Given the description of an element on the screen output the (x, y) to click on. 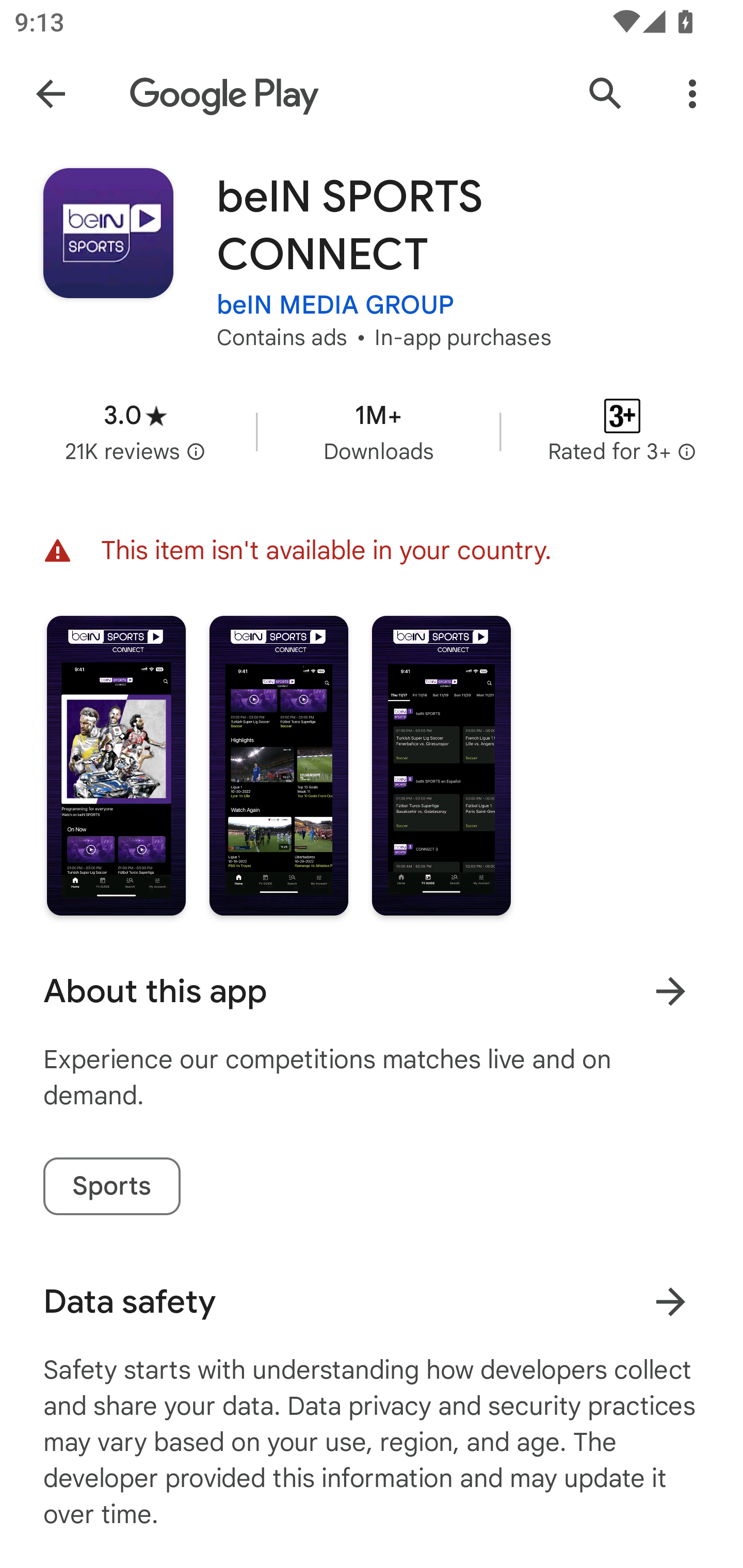
Navigate up (50, 93)
Search Google Play (605, 93)
More Options (692, 93)
beIN MEDIA GROUP (334, 304)
Average rating 3.0 stars in 21 thousand reviews (135, 431)
Content rating Rated for 3+ (622, 431)
Screenshot "1" of "3" (115, 765)
Screenshot "2" of "3" (278, 765)
Screenshot "3" of "3" (441, 765)
About this app Learn more About this app (371, 990)
Learn more About this app (670, 991)
Sports tag (111, 1186)
Data safety Learn more about data safety (371, 1301)
Learn more about data safety (670, 1302)
